Given the description of an element on the screen output the (x, y) to click on. 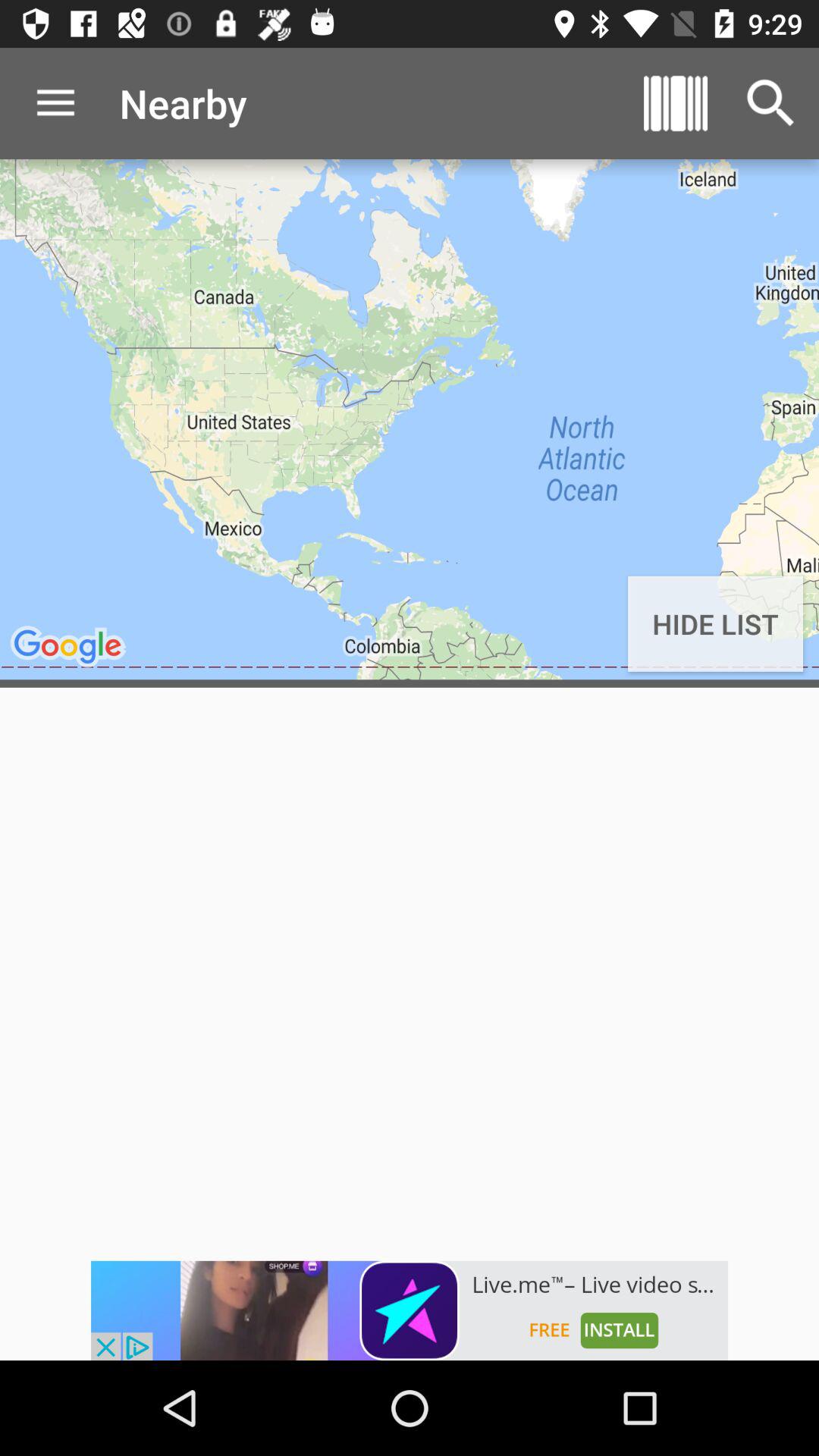
go to advertising partner (409, 1310)
